Given the description of an element on the screen output the (x, y) to click on. 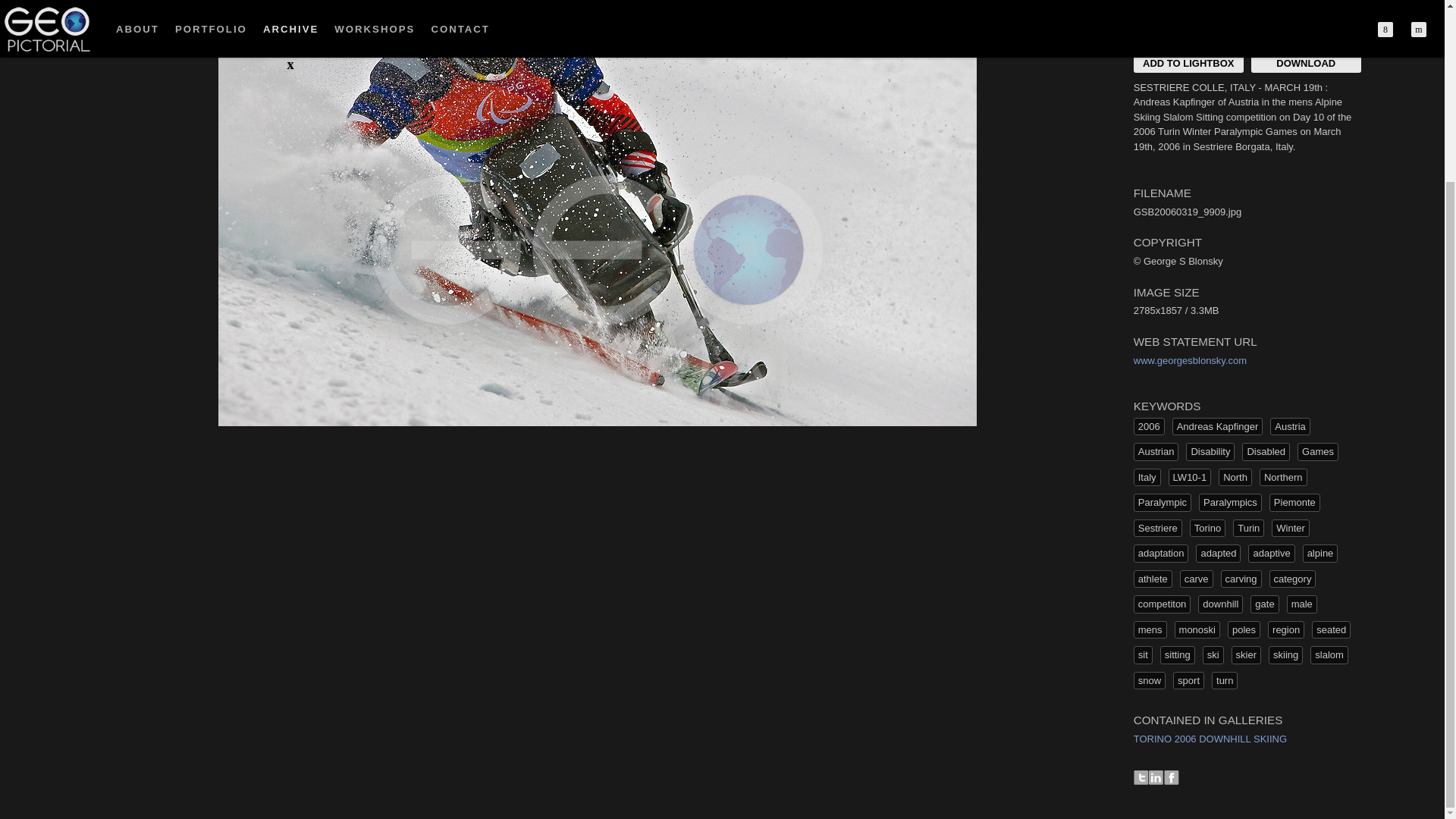
Games (1317, 452)
Northern (1283, 477)
adaptation (1161, 553)
North (1235, 477)
Sestriere (1158, 528)
adapted (1217, 553)
Austria (1288, 426)
Disability (1210, 452)
Torino (1207, 528)
ADD TO LIGHTBOX (1188, 63)
